Given the description of an element on the screen output the (x, y) to click on. 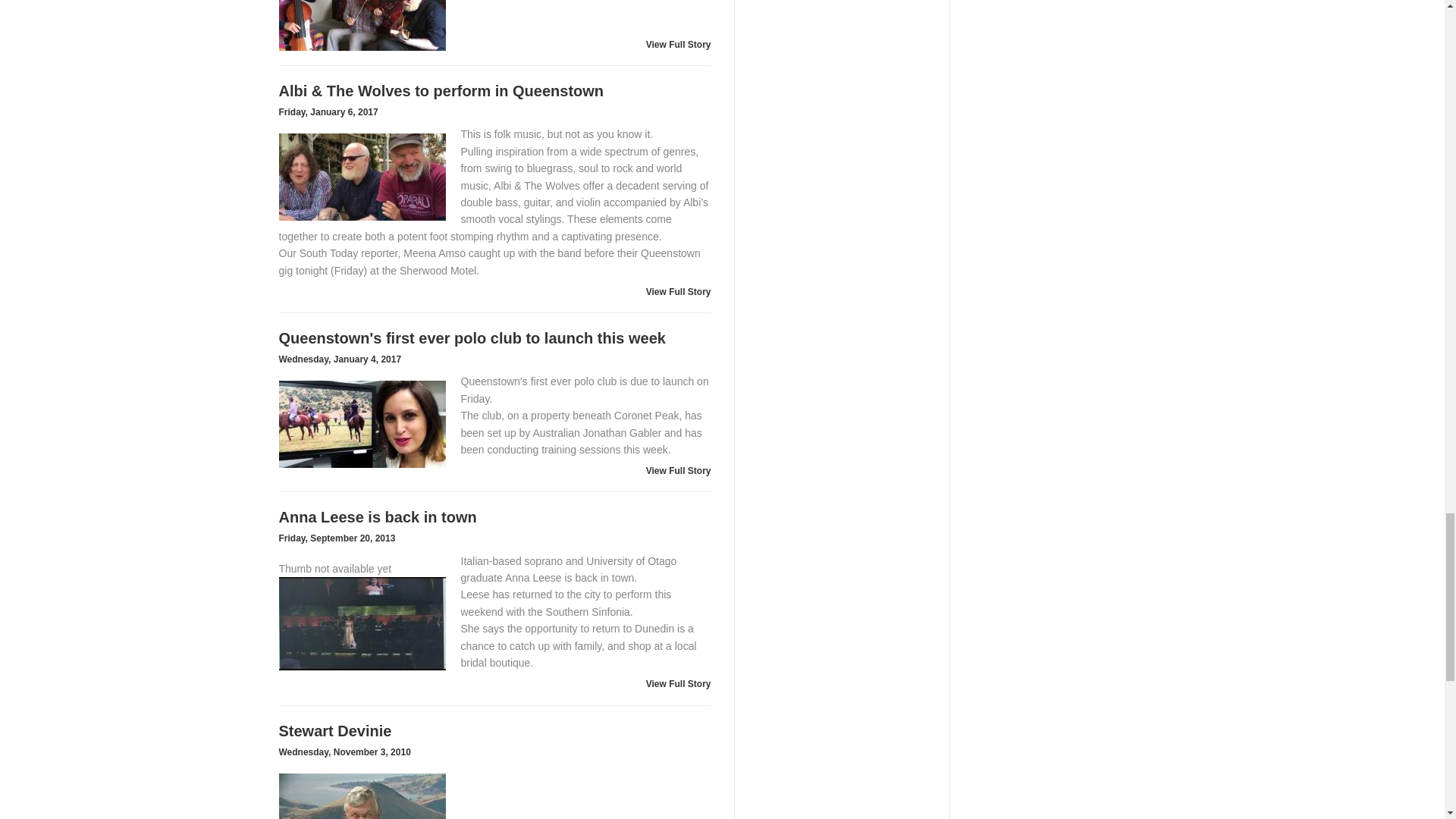
Stewart Devinie (362, 796)
Anna Leese is back in town (362, 623)
Queenstown's first ever Polo Club to launch this week (362, 423)
